Given the description of an element on the screen output the (x, y) to click on. 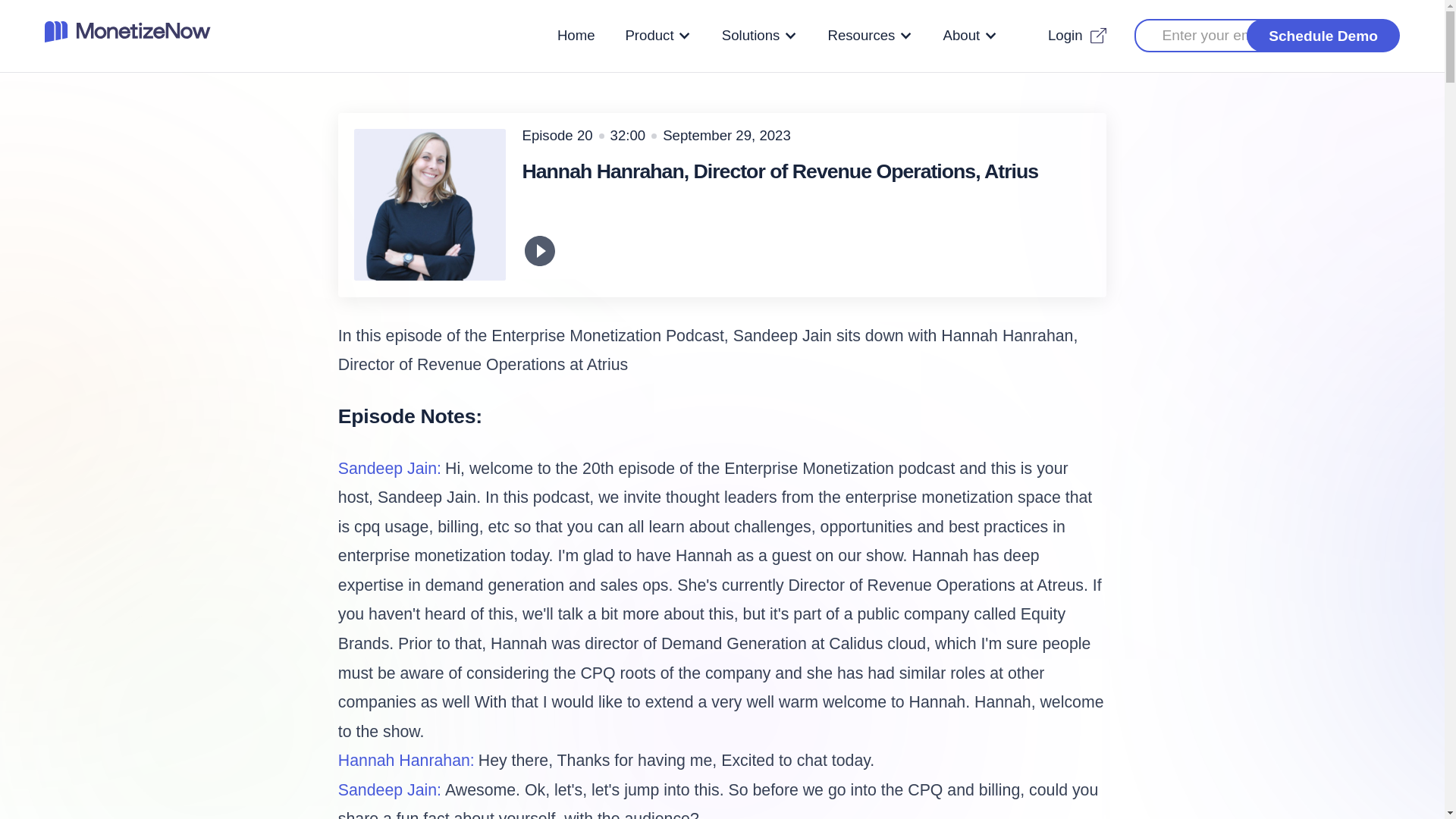
Home (576, 35)
Schedule Demo (1322, 35)
Schedule Demo (1322, 35)
Login (1077, 35)
